Given the description of an element on the screen output the (x, y) to click on. 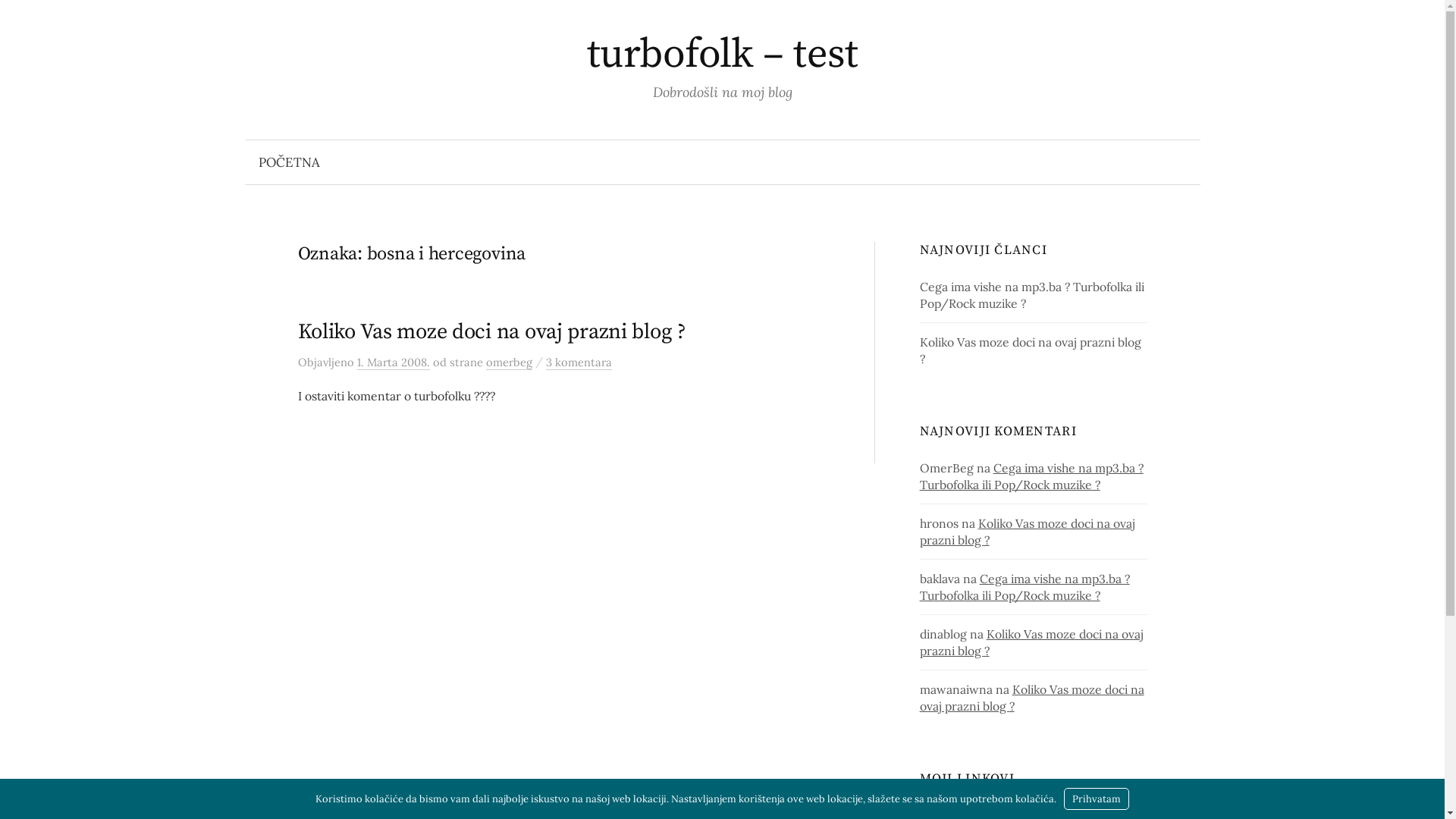
Koliko Vas moze doci na ovaj prazni blog ? Element type: text (1031, 697)
Koliko Vas moze doci na ovaj prazni blog ? Element type: text (1031, 642)
Koliko Vas moze doci na ovaj prazni blog ? Element type: text (491, 331)
Pretraga Element type: text (18, 18)
Koliko Vas moze doci na ovaj prazni blog ? Element type: text (1030, 350)
1. Marta 2008. Element type: text (392, 362)
Cega ima vishe na mp3.ba ? Turbofolka ili Pop/Rock muzike ? Element type: text (1024, 586)
Koliko Vas moze doci na ovaj prazni blog ? Element type: text (1027, 531)
3 komentara
za Koliko Vas moze doci na ovaj prazni blog ? Element type: text (578, 362)
Prihvatam Element type: text (1096, 798)
MP3.ba Element type: text (939, 808)
Cega ima vishe na mp3.ba ? Turbofolka ili Pop/Rock muzike ? Element type: text (1031, 476)
Cega ima vishe na mp3.ba ? Turbofolka ili Pop/Rock muzike ? Element type: text (1031, 294)
omerbeg Element type: text (508, 362)
